Given the description of an element on the screen output the (x, y) to click on. 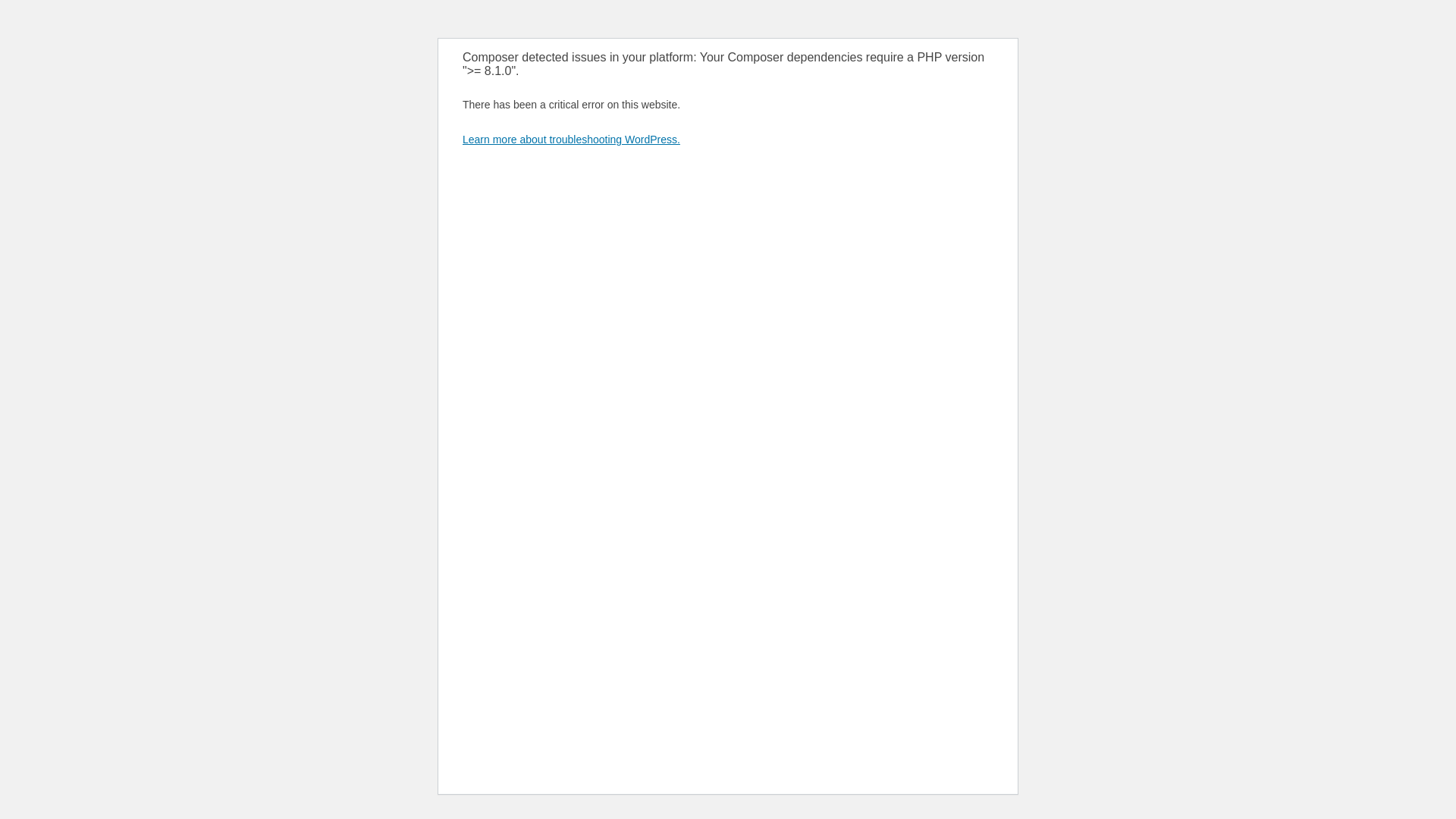
Learn more about troubleshooting WordPress. Element type: text (571, 139)
